Given the description of an element on the screen output the (x, y) to click on. 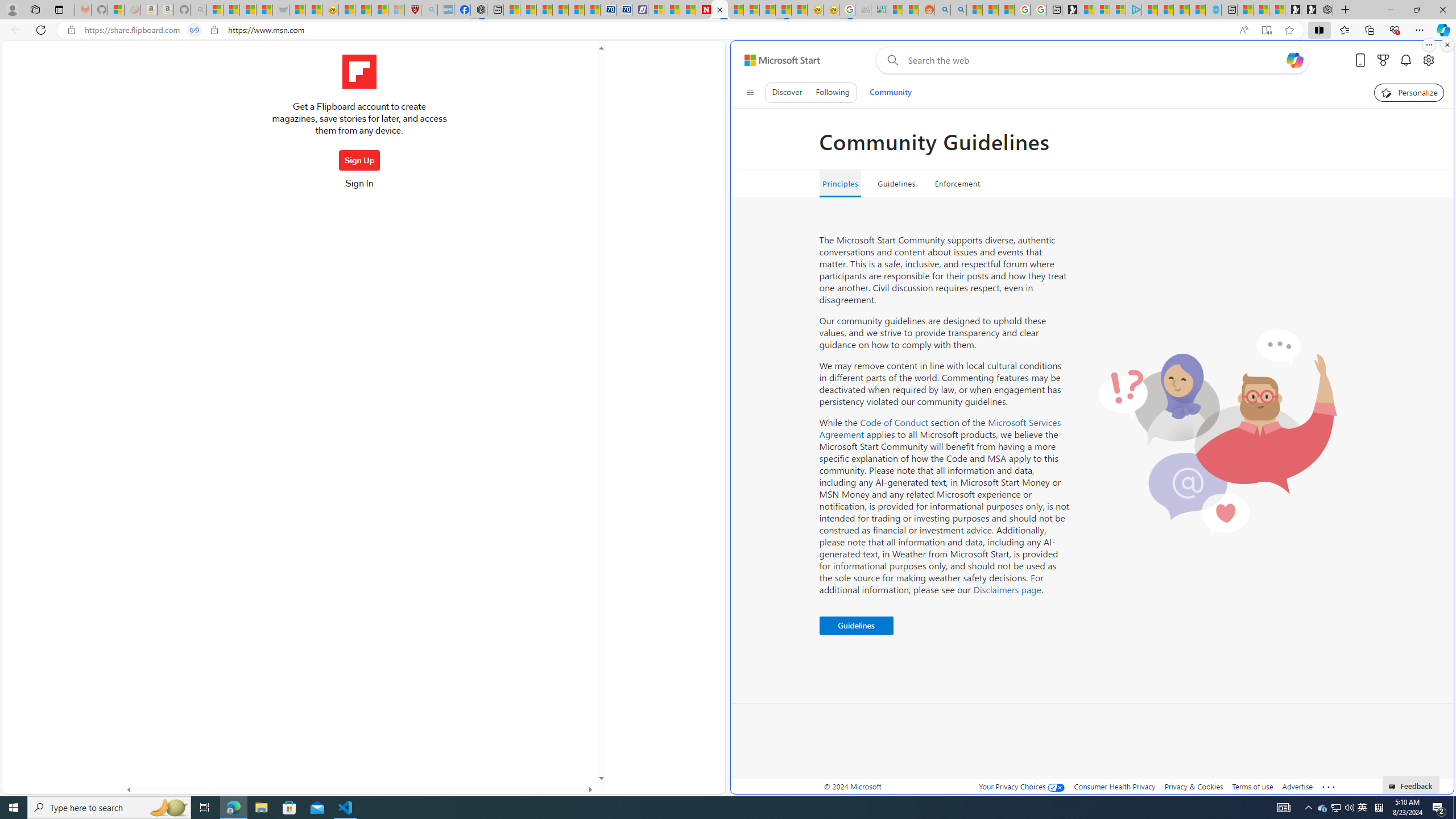
Your Privacy Choices (1021, 786)
Class: oneFooter_seeMore-DS-EntryPoint1-1 (1328, 786)
Community (889, 92)
Guidelines (895, 183)
Feedback (1411, 784)
Science - MSN (379, 9)
Privacy & Cookies (1193, 785)
Enter Immersive Reader (F9) (1266, 29)
